Given the description of an element on the screen output the (x, y) to click on. 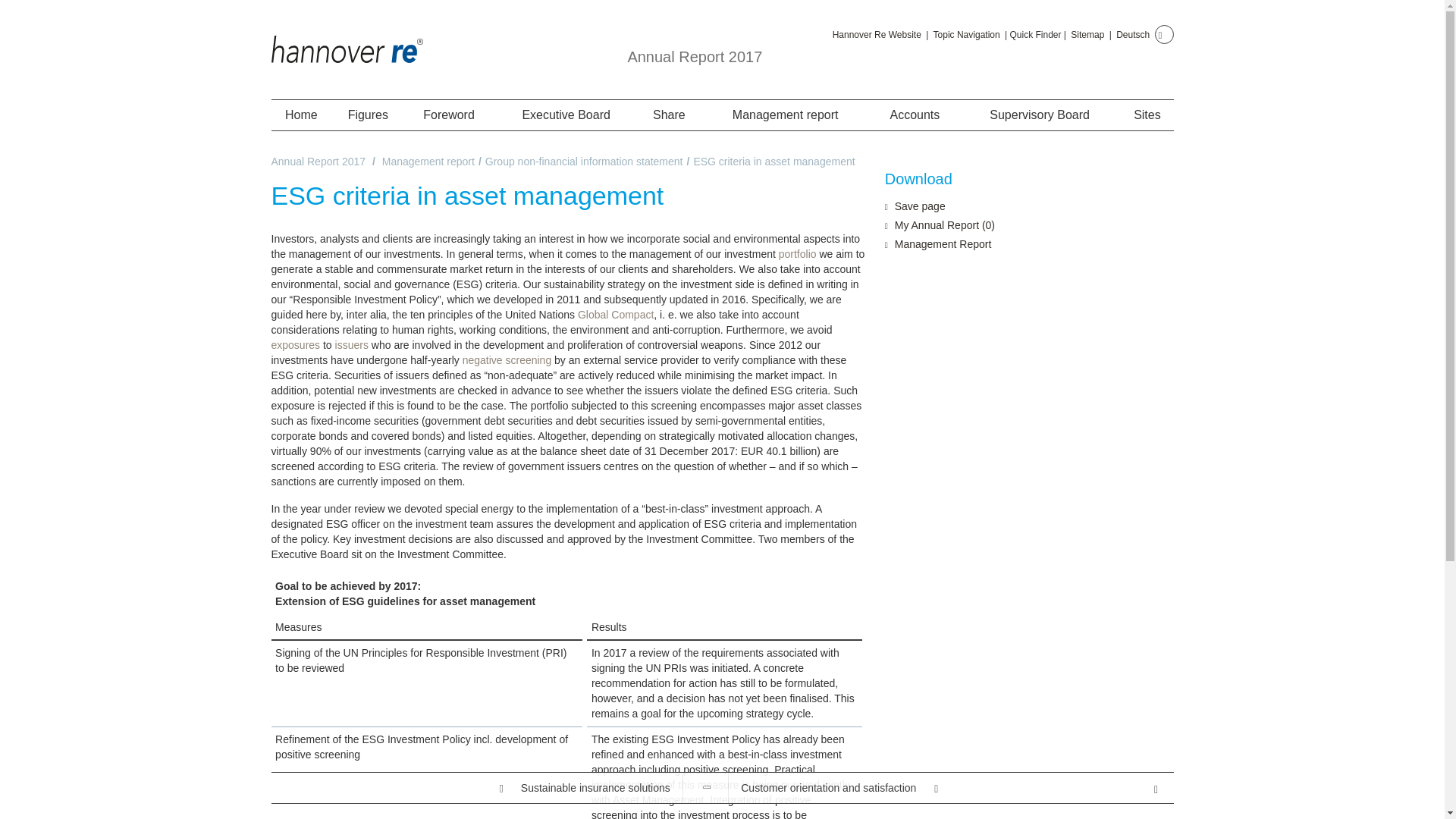
Deutsch (1133, 34)
Sustainable insurance solutions (476, 788)
Customer orientation and satisfaction (934, 788)
